Given the description of an element on the screen output the (x, y) to click on. 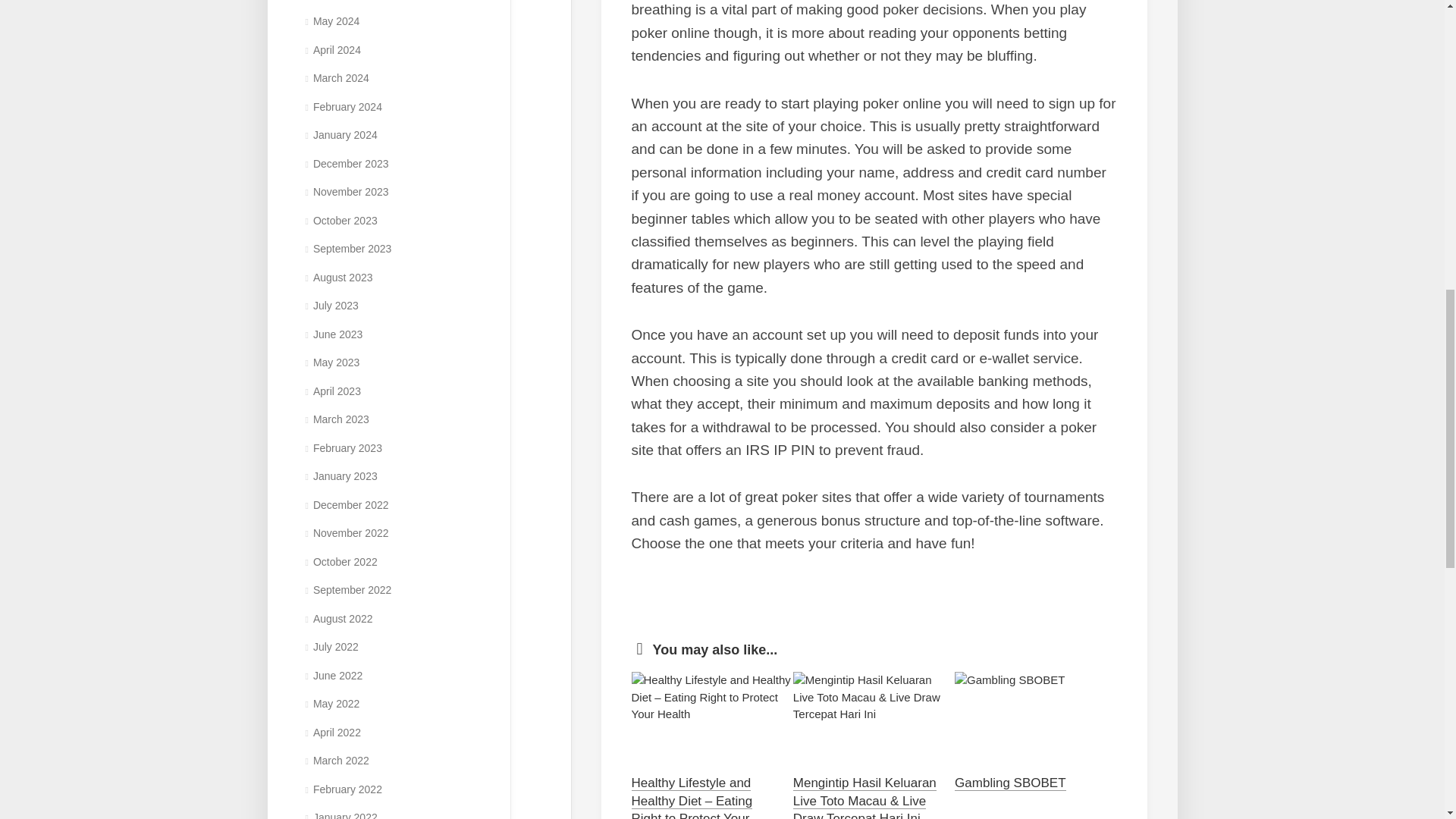
September 2022 (347, 589)
May 2022 (331, 703)
October 2023 (340, 220)
August 2022 (338, 618)
September 2023 (347, 248)
March 2024 (336, 78)
May 2023 (331, 362)
March 2023 (336, 419)
August 2023 (338, 277)
July 2023 (331, 305)
December 2022 (346, 504)
April 2022 (331, 732)
February 2023 (342, 448)
December 2023 (346, 163)
November 2023 (346, 191)
